Given the description of an element on the screen output the (x, y) to click on. 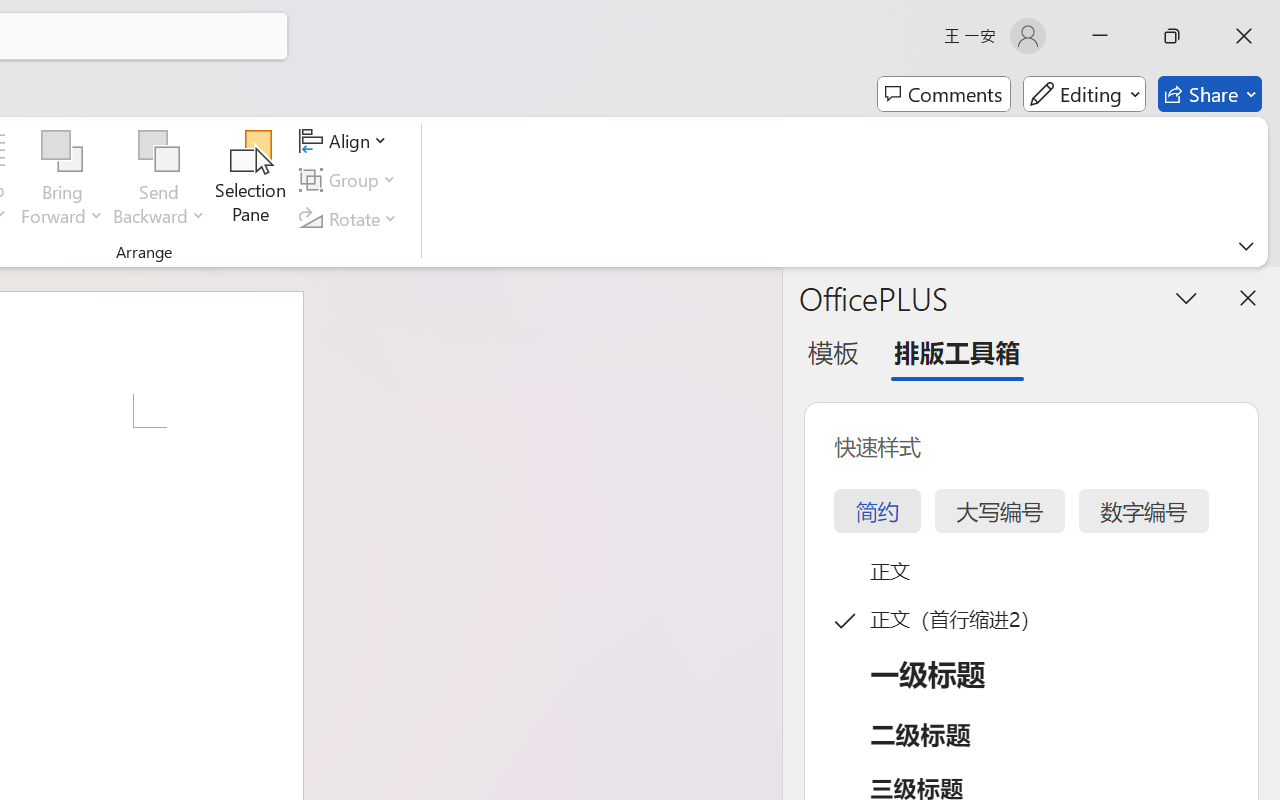
Rotate (351, 218)
